Given the description of an element on the screen output the (x, y) to click on. 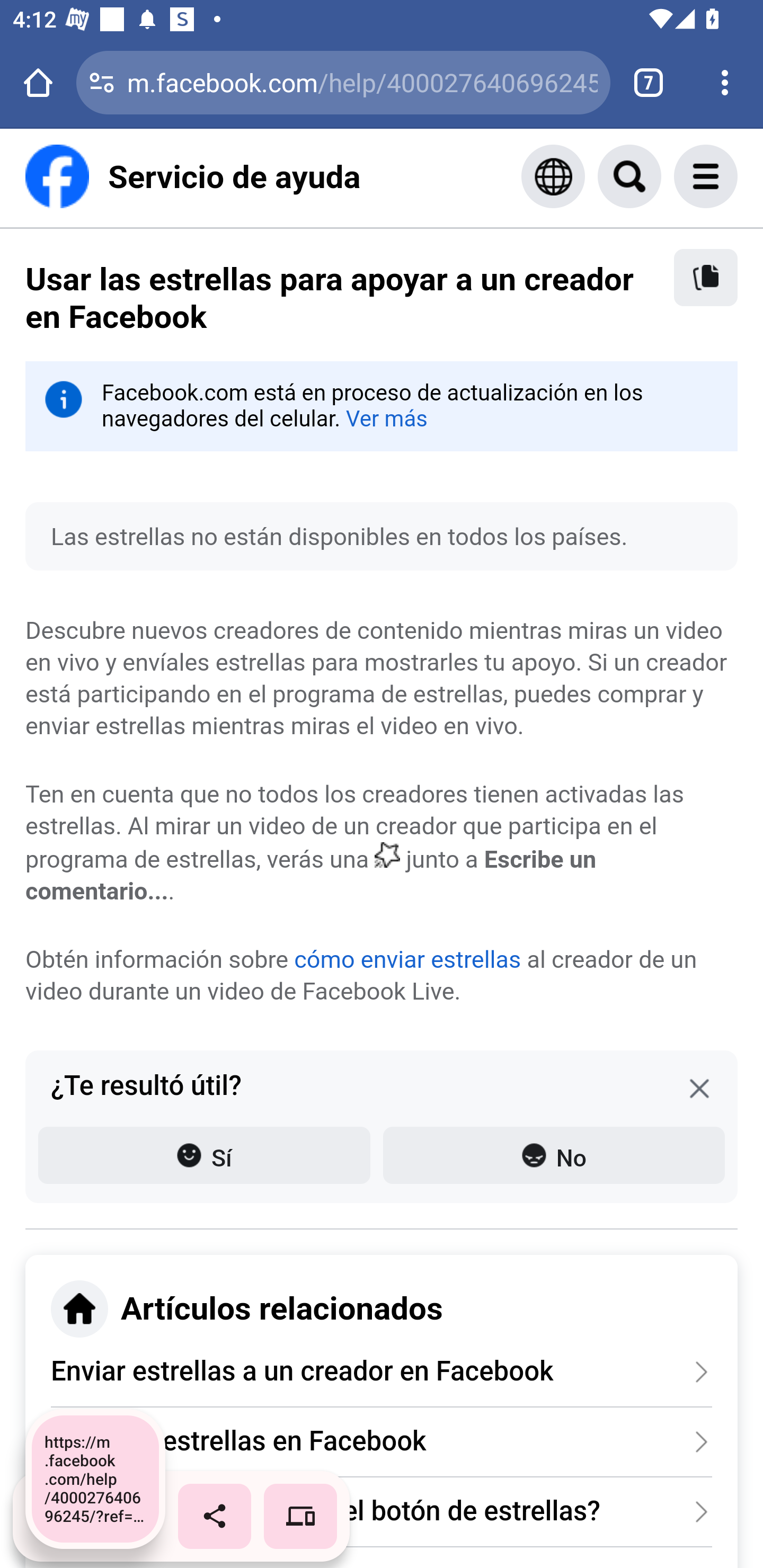
Open the home page (38, 82)
Connection is secure (101, 82)
Switch or close tabs (648, 82)
Customize and control Google Chrome (724, 82)
Servicio de ayuda S9-8mgjtmdP Servicio de ayuda (192, 176)
Seleccionar el idioma (553, 176)
Búsqueda en el servicio de ayuda (648, 176)
Menú del servicio de ayuda (724, 176)
Copiar enlace (705, 277)
Ver más (385, 418)
cómo enviar estrellas (407, 959)
Cerrar cuadro de diálogo de comentarios (698, 1087)
Sí (204, 1155)
No (553, 1155)
